Given the description of an element on the screen output the (x, y) to click on. 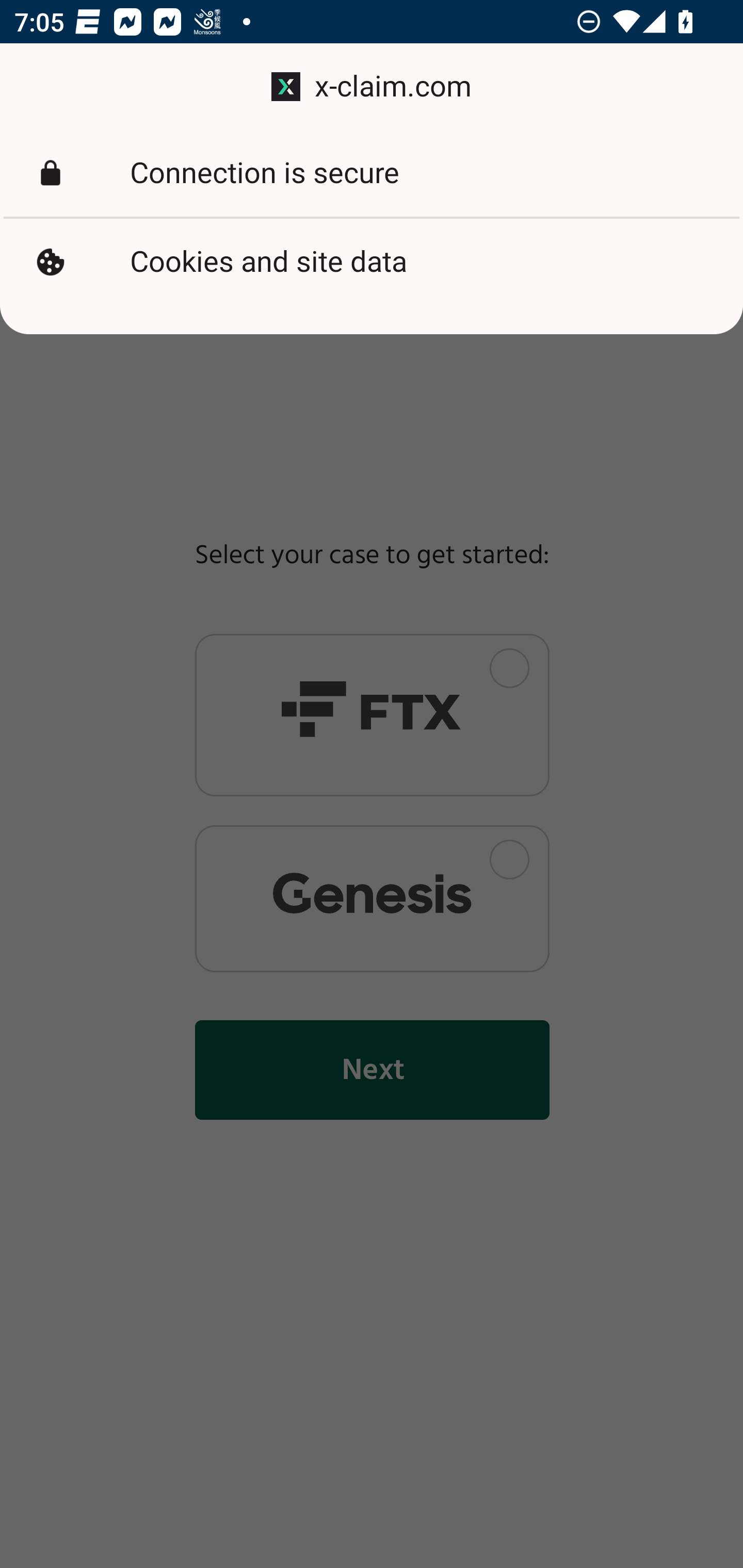
x-claim.com (371, 86)
Connection is secure (371, 173)
Cookies and site data (371, 261)
